Given the description of an element on the screen output the (x, y) to click on. 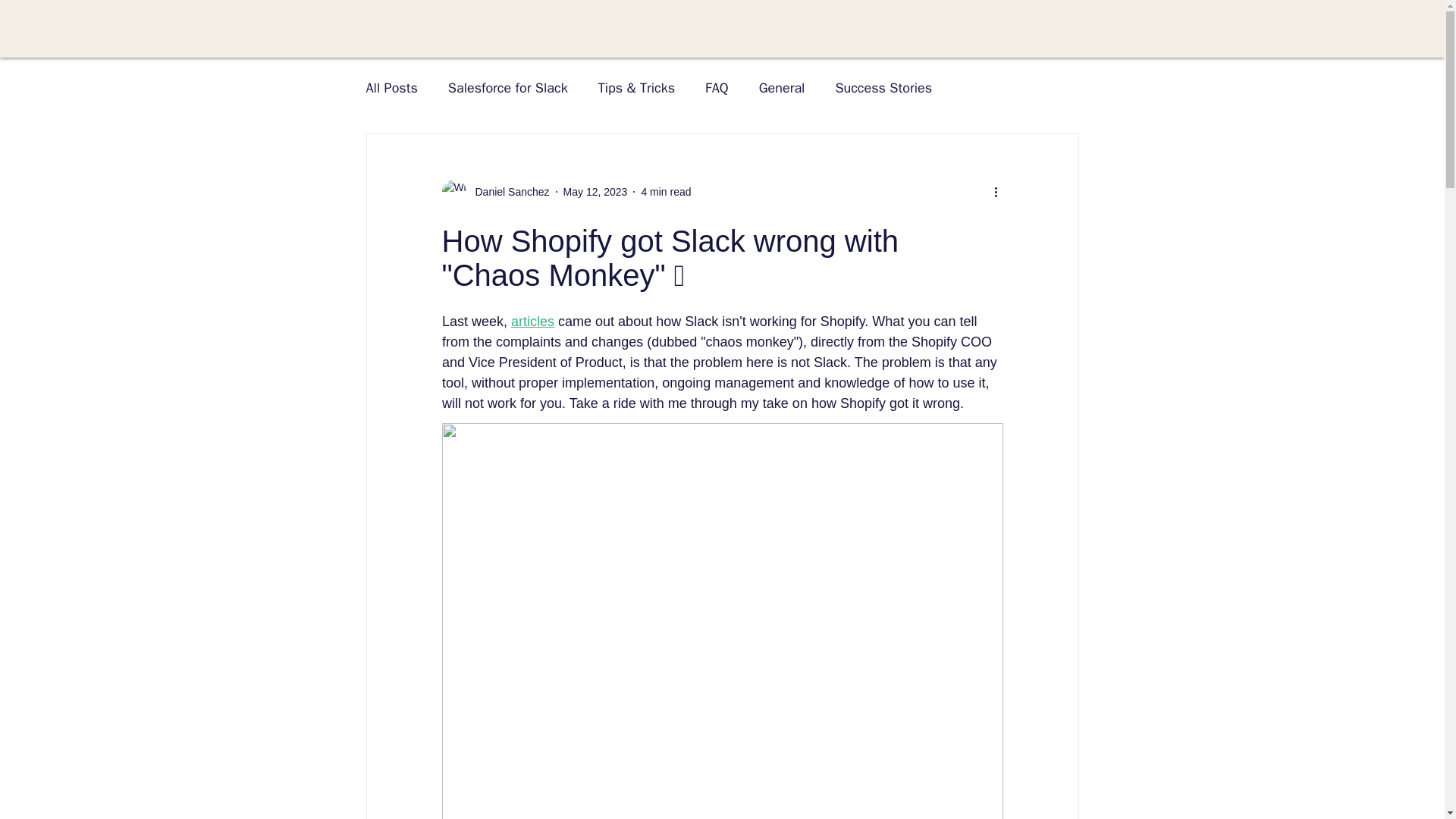
Daniel Sanchez (494, 191)
FAQ (716, 87)
May 12, 2023 (595, 191)
General (781, 87)
articles (532, 321)
Daniel Sanchez (506, 191)
Success Stories (882, 87)
4 min read (665, 191)
Salesforce for Slack (507, 87)
All Posts (390, 87)
